Given the description of an element on the screen output the (x, y) to click on. 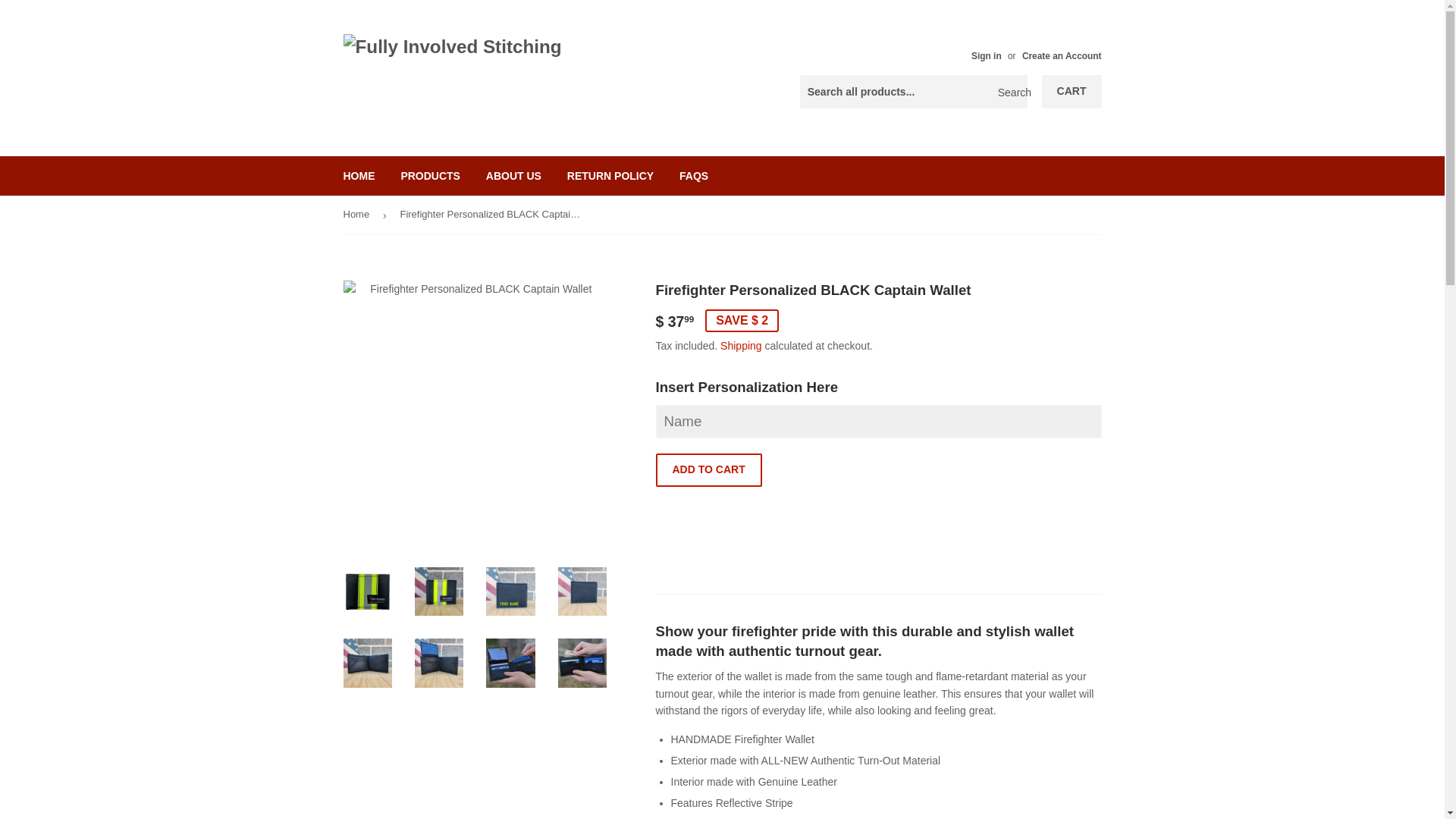
CART (1072, 91)
HOME (359, 175)
Search (1009, 92)
RETURN POLICY (610, 175)
Sign in (986, 55)
PRODUCTS (429, 175)
ABOUT US (513, 175)
Create an Account (1062, 55)
FAQS (693, 175)
ADD TO CART (708, 469)
